Given the description of an element on the screen output the (x, y) to click on. 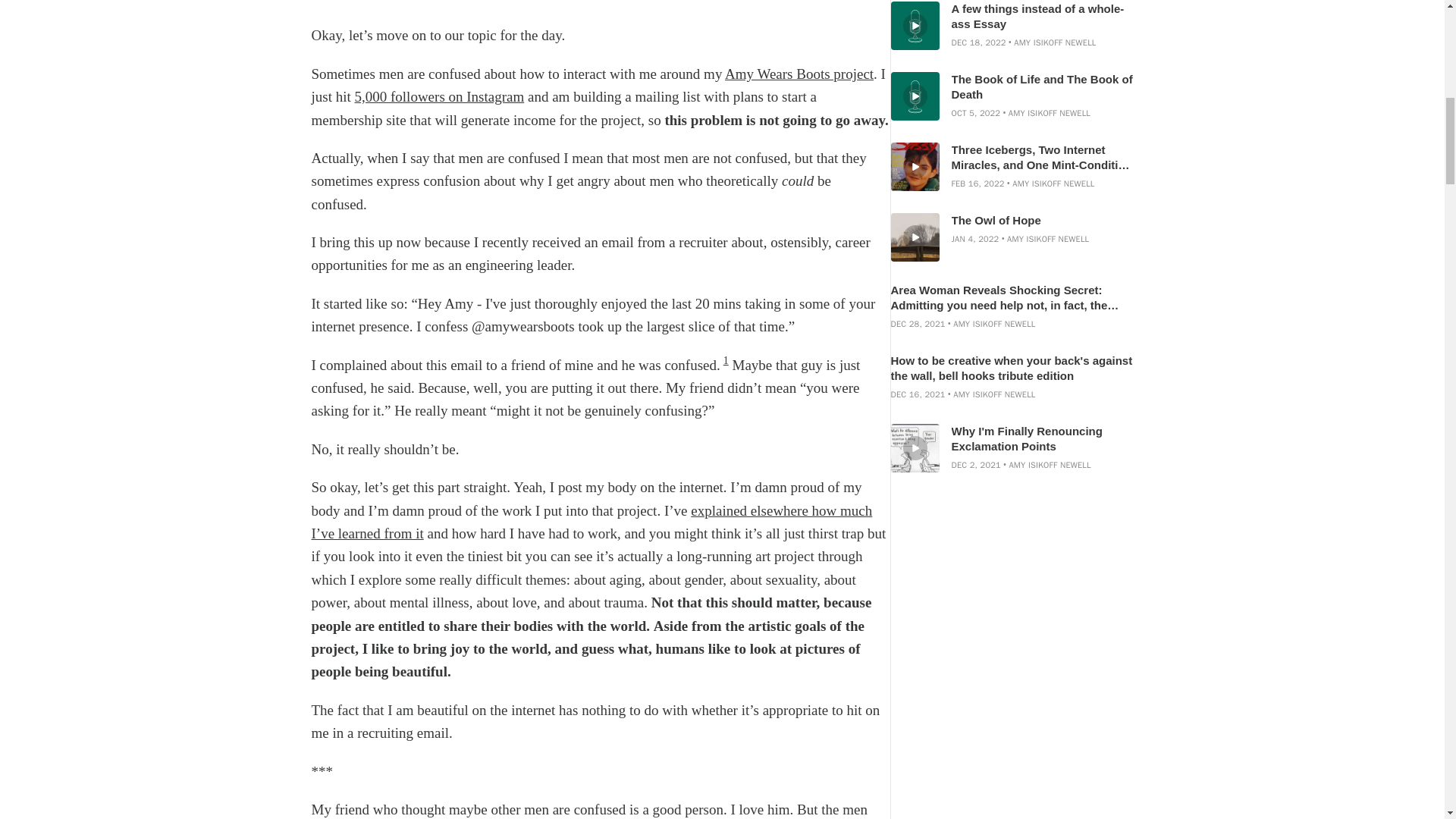
5,000 followers on Instagram (439, 96)
Amy Wears Boots project (799, 73)
1 (726, 360)
